Given the description of an element on the screen output the (x, y) to click on. 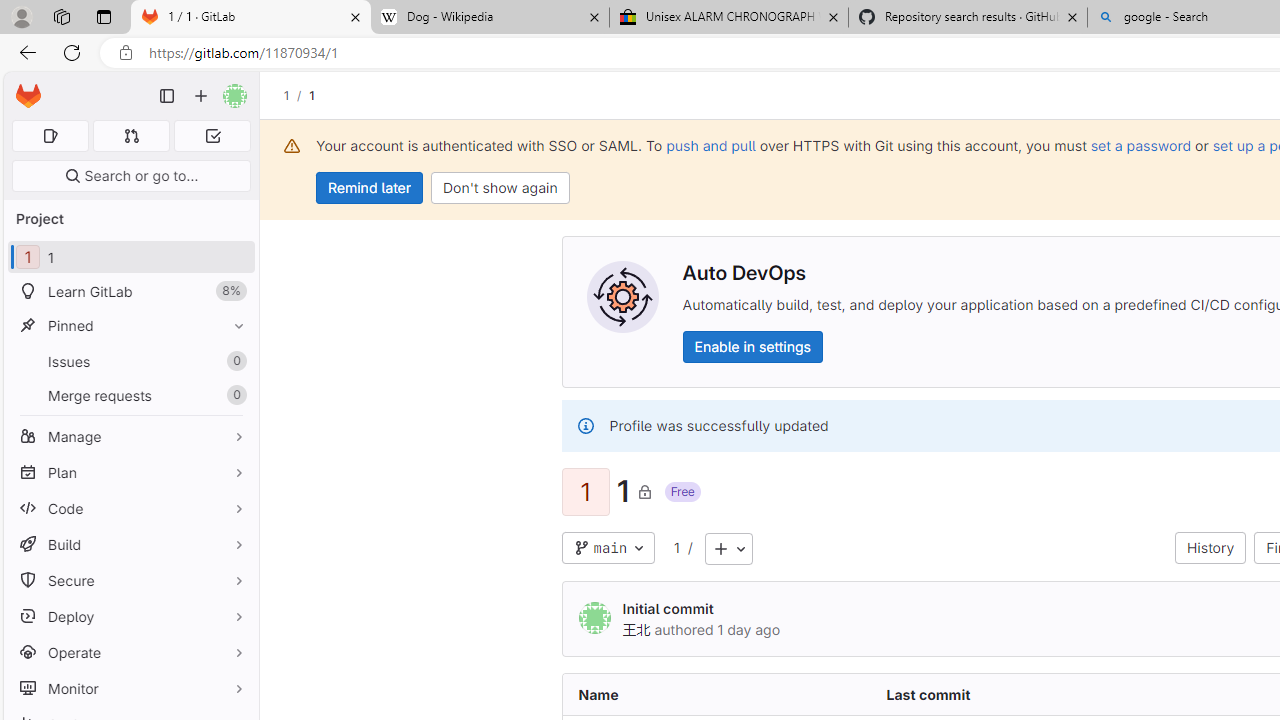
Assigned issues 0 (50, 136)
Create new... (201, 96)
Plan (130, 471)
History (1209, 547)
Initial commit (668, 608)
Deploy (130, 615)
Remind later (369, 187)
Merge requests 0 (131, 136)
set a password (1140, 145)
Enable in settings (752, 346)
Monitor (130, 687)
